Given the description of an element on the screen output the (x, y) to click on. 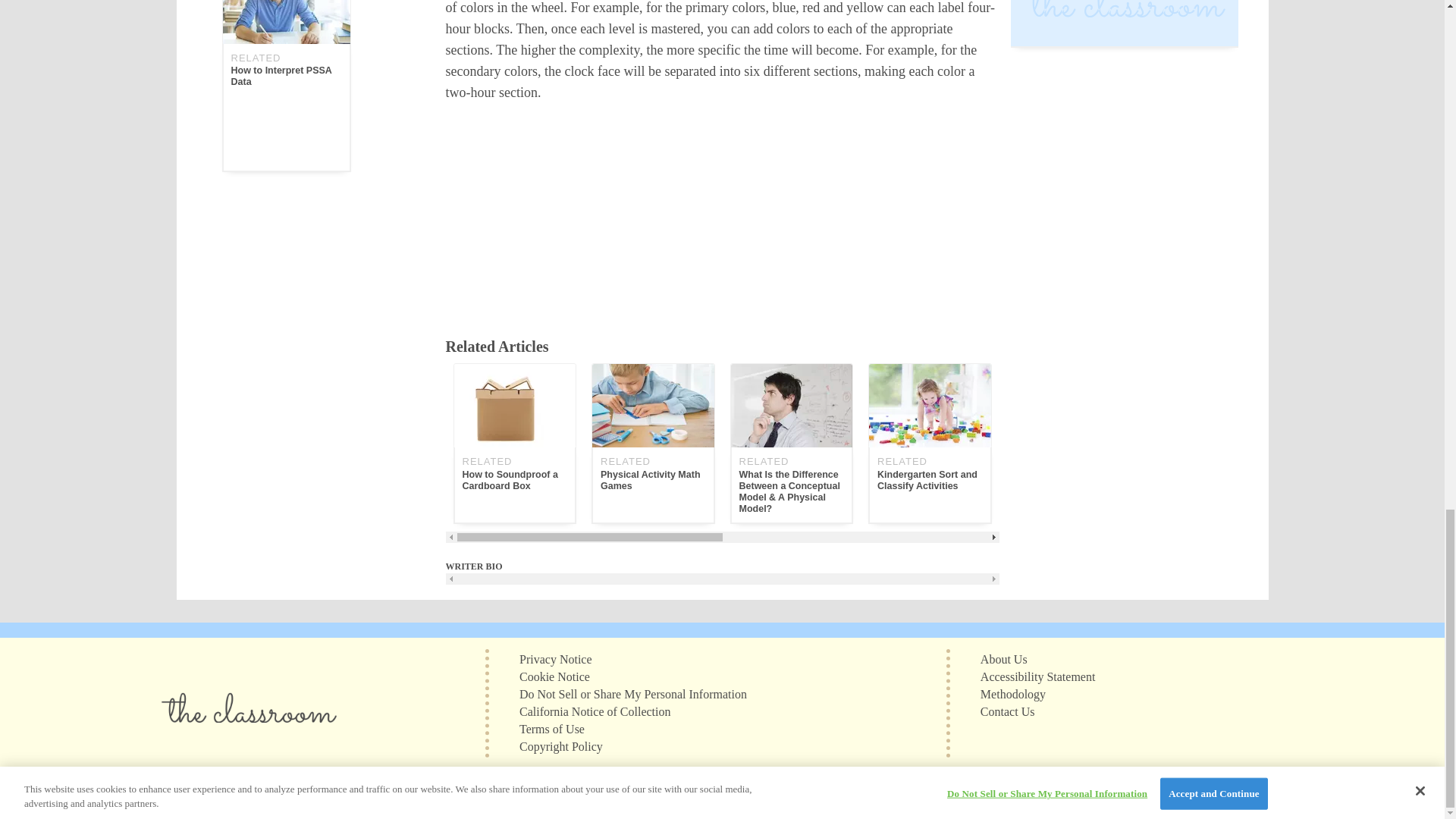
Copyright Policy (560, 746)
Do Not Sell or Share My Personal Information (632, 693)
Cookie Notice (554, 676)
Privacy Notice (555, 658)
Terms of Use (552, 727)
Accessibility Statement (1037, 676)
California Notice of Collection (595, 711)
3rd party ad content (721, 212)
Methodology (1012, 693)
About Us (1003, 658)
